Given the description of an element on the screen output the (x, y) to click on. 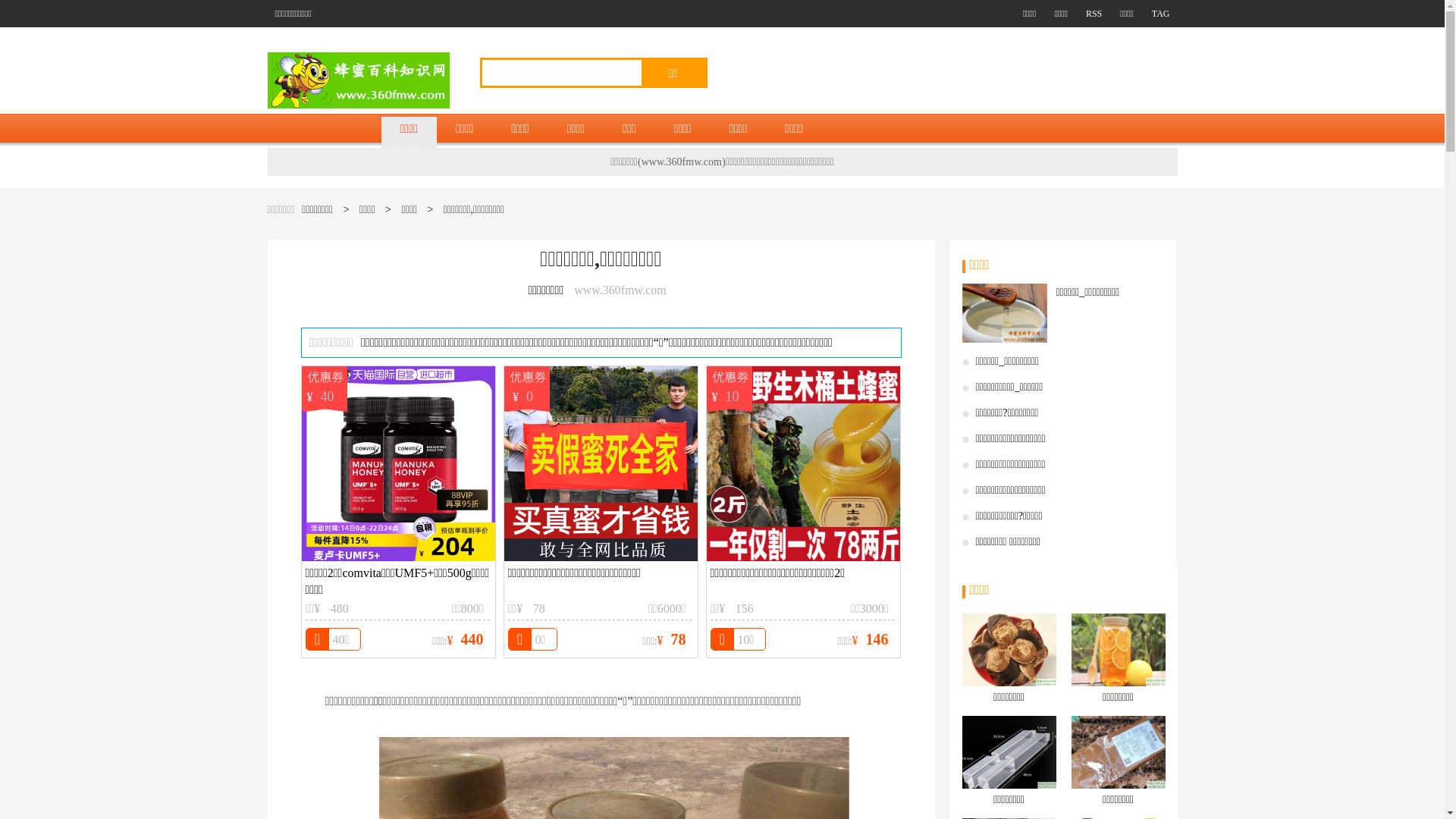
RSS Element type: text (1086, 13)
TAG Element type: text (1153, 13)
